Given the description of an element on the screen output the (x, y) to click on. 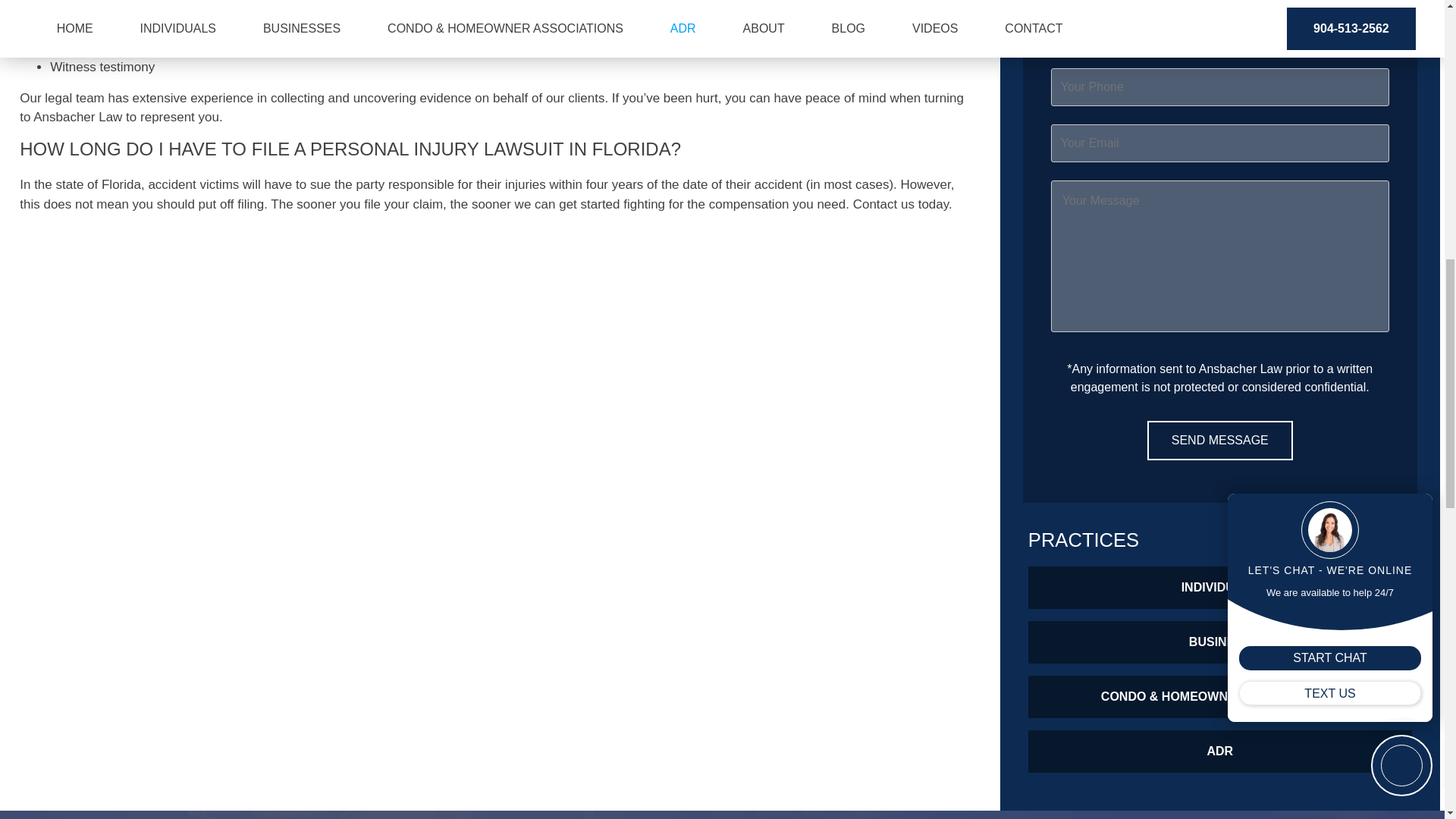
Send Message (1219, 440)
